Given the description of an element on the screen output the (x, y) to click on. 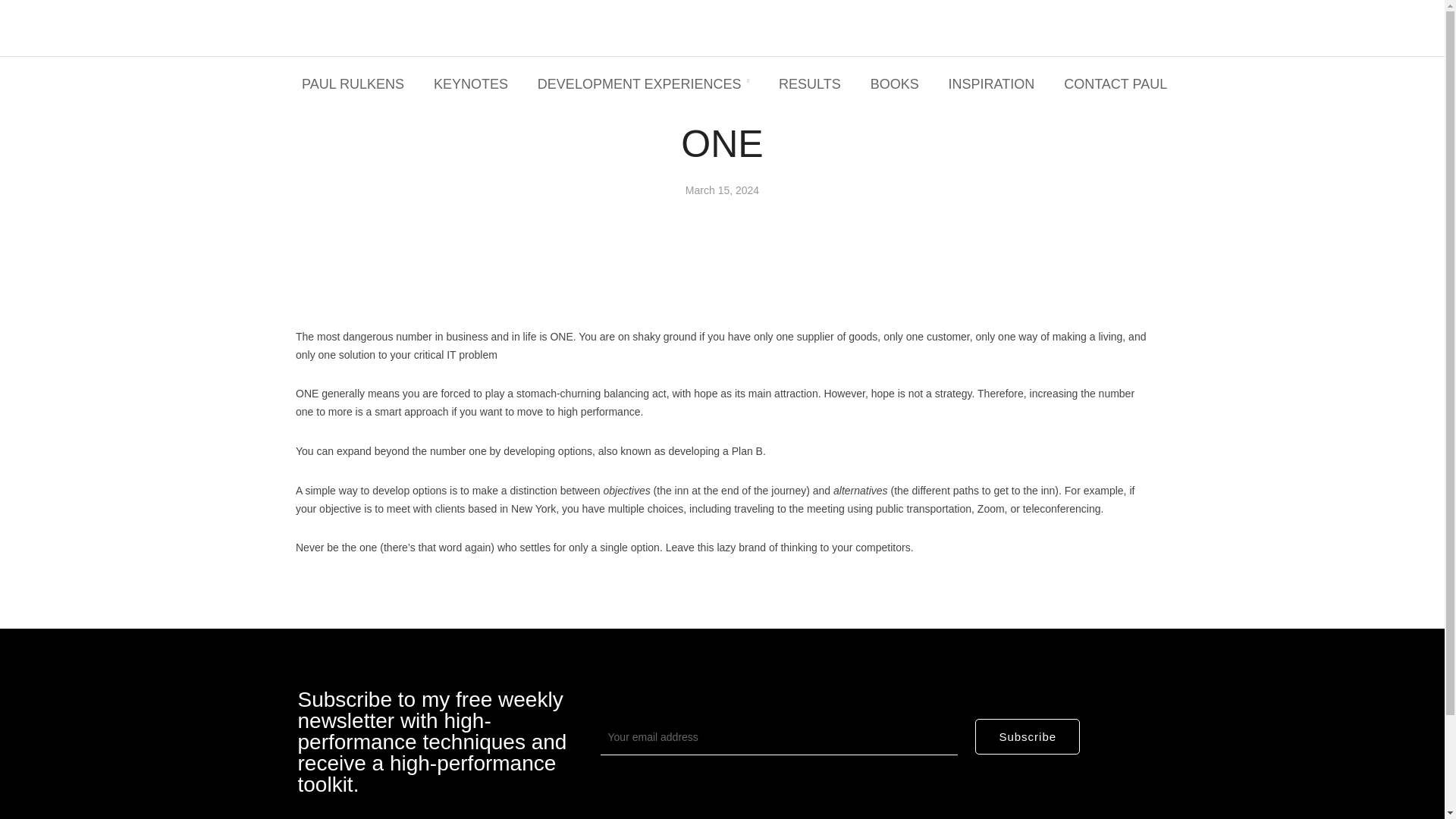
PAUL RULKENS (355, 84)
RESULTS (812, 84)
March 15, 2024 (721, 190)
BOOKS (898, 84)
Subscribe (1027, 737)
INSPIRATION (995, 84)
KEYNOTES (474, 84)
Subscribe (1027, 737)
DEVELOPMENT EXPERIENCES (646, 84)
CONTACT PAUL (1118, 84)
